Given the description of an element on the screen output the (x, y) to click on. 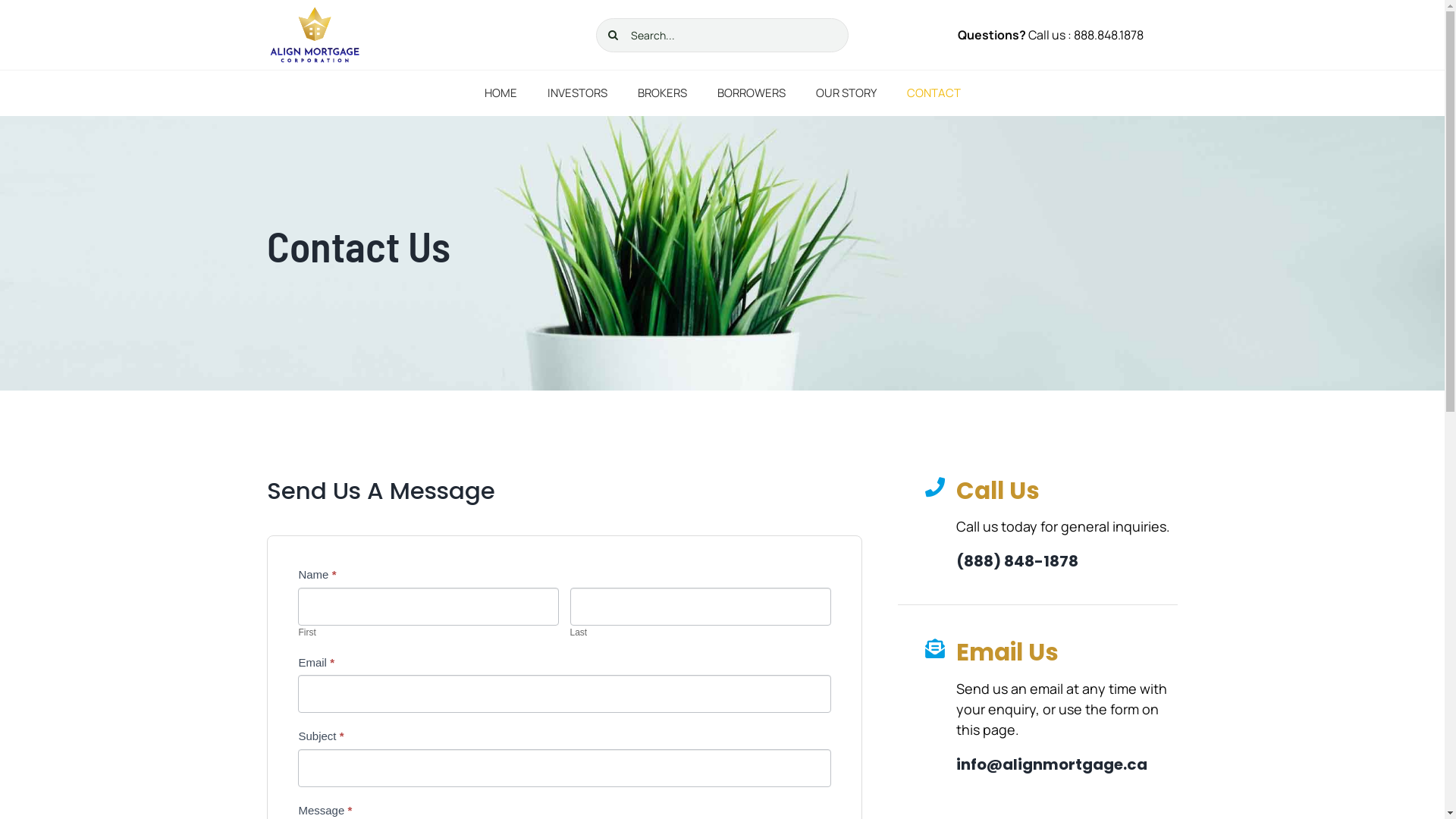
BORROWERS Element type: text (751, 93)
Contact-Us 1 Element type: hover (314, 34)
CONTACT Element type: text (933, 93)
HOME Element type: text (499, 93)
BROKERS Element type: text (661, 93)
INVESTORS Element type: text (577, 93)
OUR STORY Element type: text (845, 93)
